Given the description of an element on the screen output the (x, y) to click on. 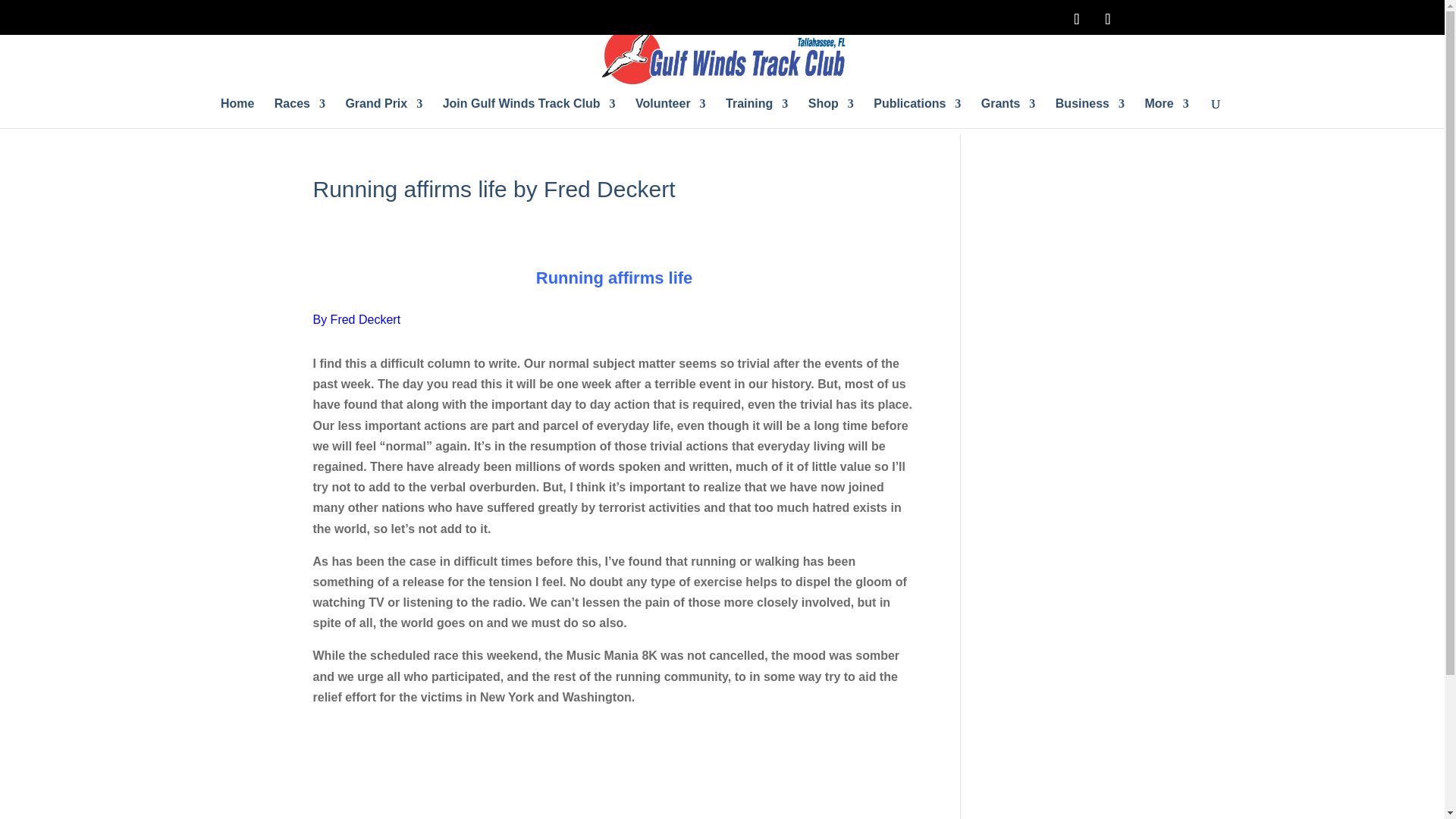
Grand Prix (383, 109)
Home (237, 109)
Races (299, 109)
Publications (916, 109)
Join Gulf Winds Track Club (528, 109)
Shop (830, 109)
Training (756, 109)
Volunteer (670, 109)
